Given the description of an element on the screen output the (x, y) to click on. 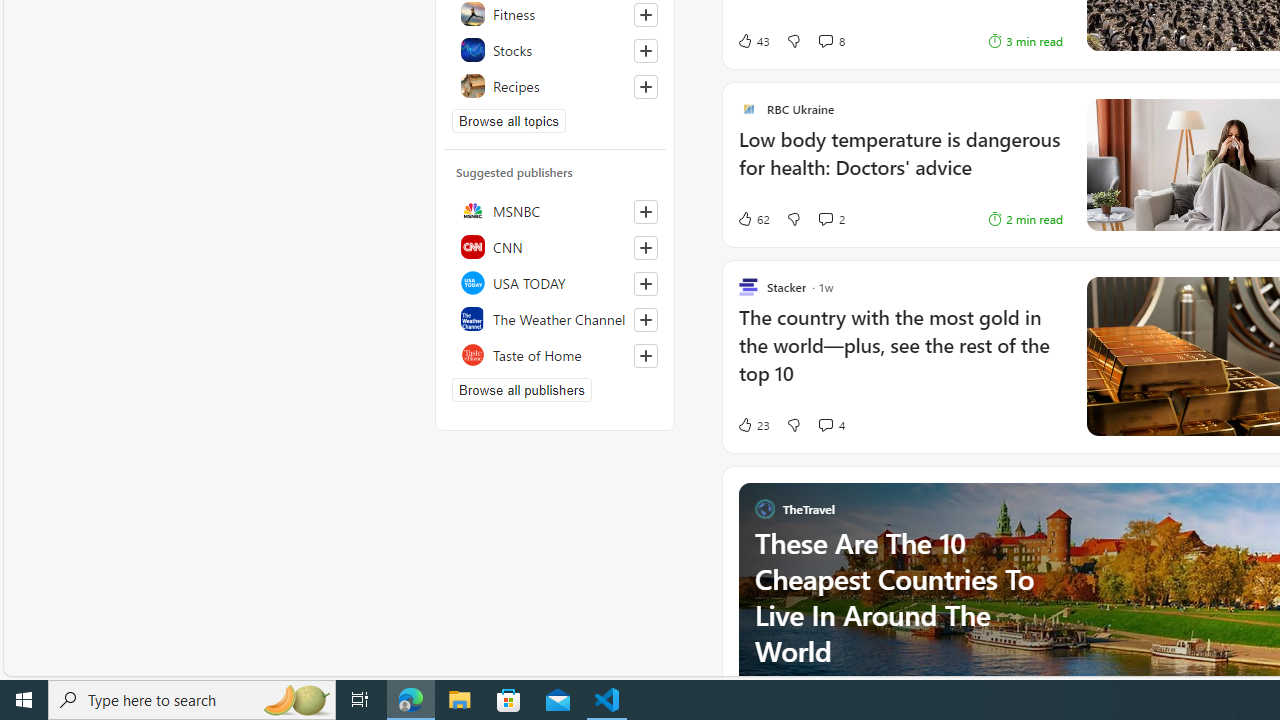
The Weather Channel (555, 318)
Browse all topics (509, 120)
USA TODAY (555, 282)
Recipes (555, 85)
View comments 2 Comment (825, 218)
62 Like (753, 219)
Follow this topic (645, 86)
Browse all publishers (521, 389)
Follow this source (645, 355)
View comments 4 Comment (830, 425)
View comments 2 Comment (830, 219)
View comments 4 Comment (825, 424)
Dislike (793, 425)
